Given the description of an element on the screen output the (x, y) to click on. 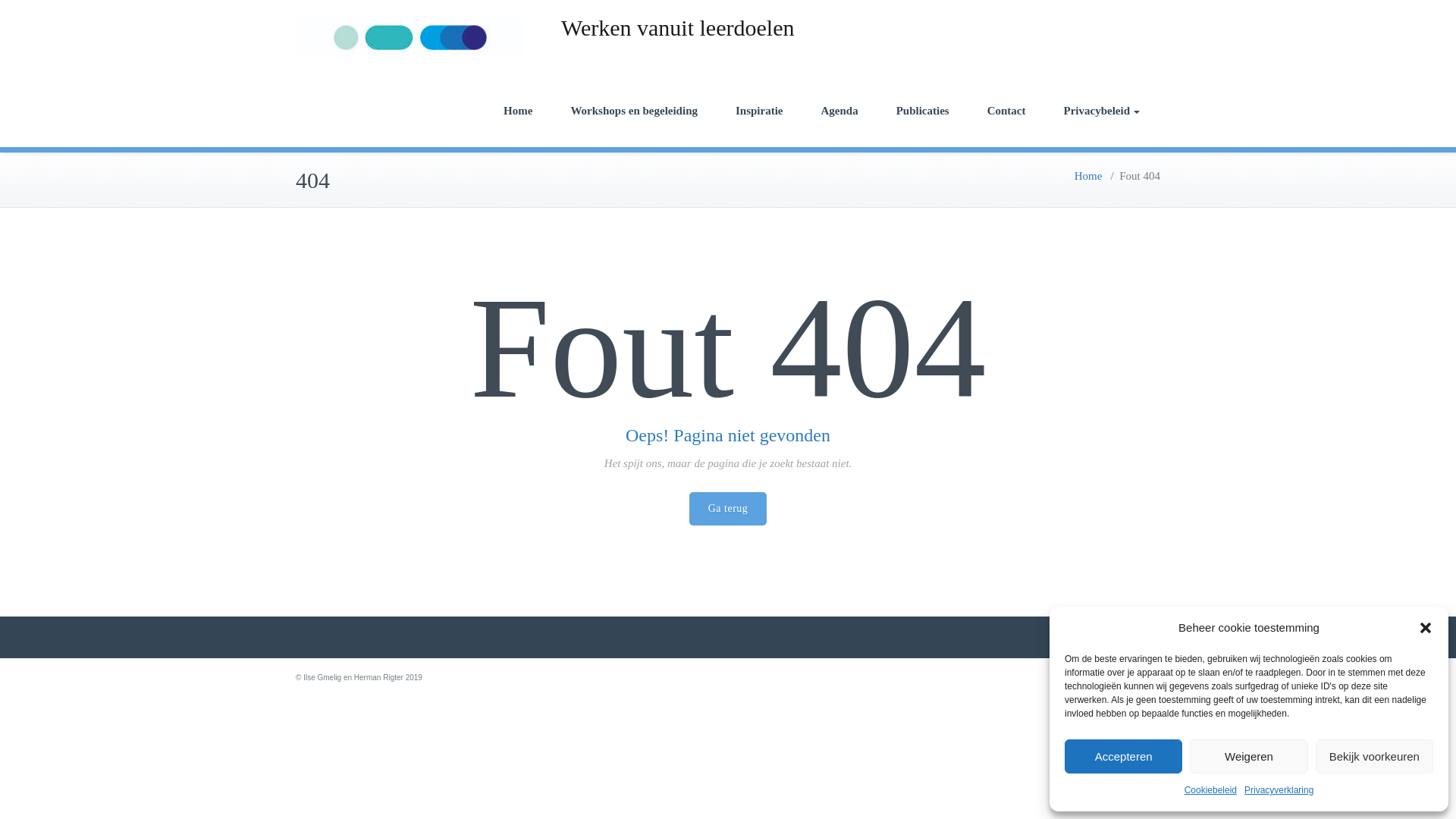
Contact (1006, 110)
Home (1088, 175)
Privacybeleid (1101, 110)
Werken vanuit leerdoelen (676, 27)
Publicaties (922, 110)
Workshops en begeleiding (633, 110)
Ga terug (727, 508)
Agenda (839, 110)
Inspiratie (759, 110)
